Given the description of an element on the screen output the (x, y) to click on. 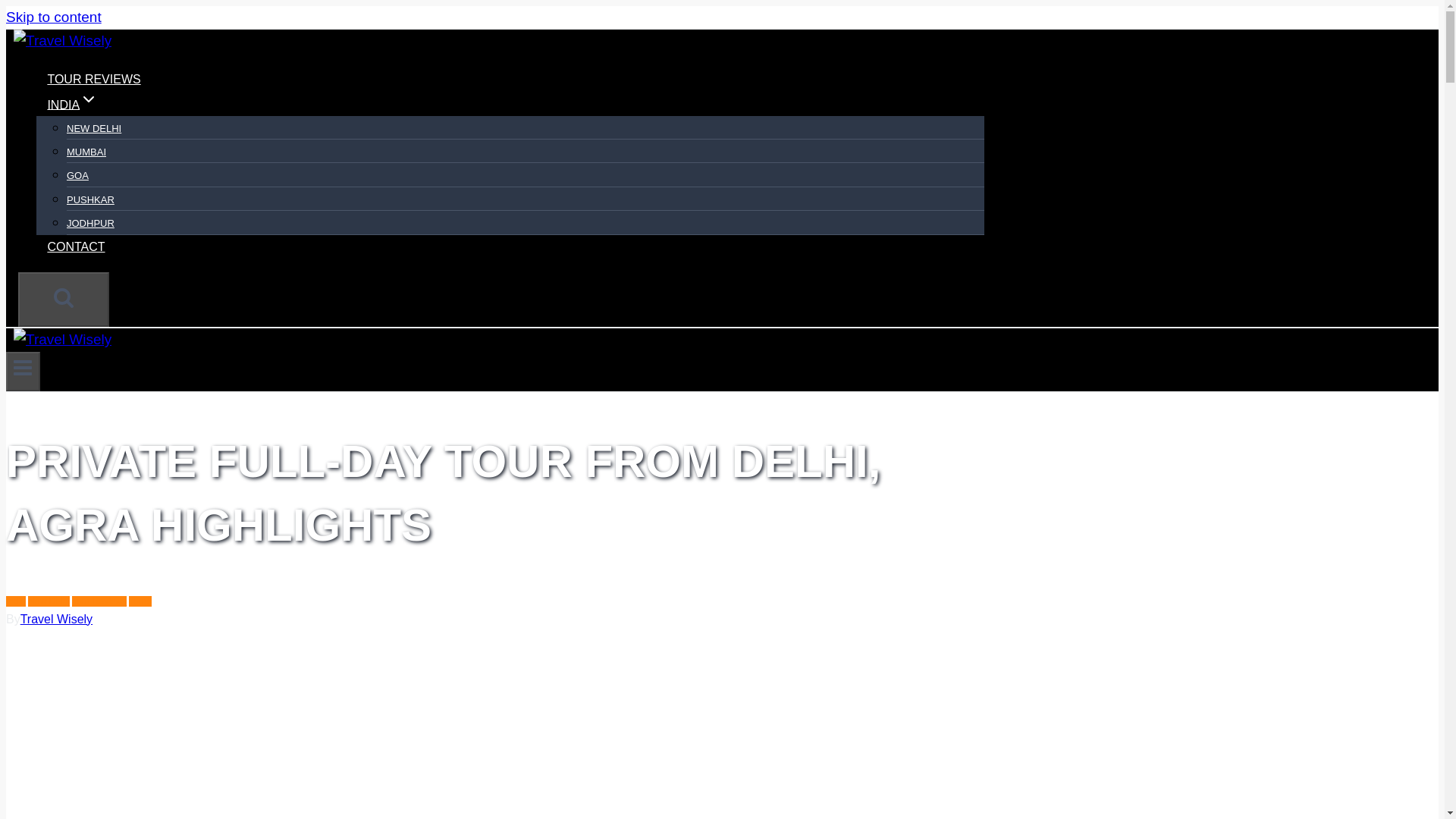
Skip to content (53, 17)
TOUR REVIEWS (93, 78)
PUSHKAR (90, 199)
JODHPUR (90, 223)
Travel Wisely (56, 618)
Tours (140, 601)
SEARCH (63, 298)
New Delhi (48, 601)
SEARCH (63, 296)
CONTACT (76, 246)
